Given the description of an element on the screen output the (x, y) to click on. 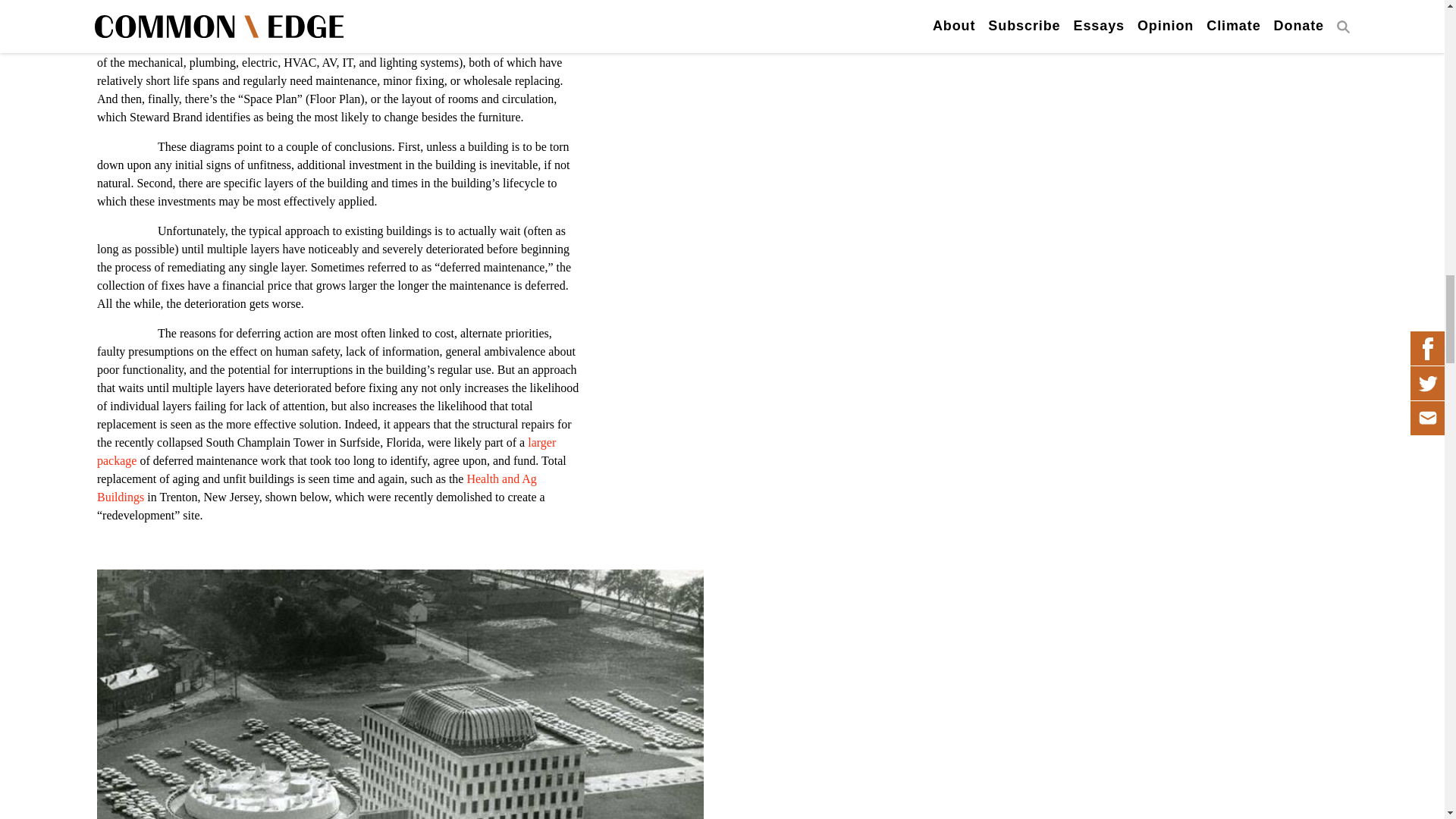
Health and Ag Buildings (317, 487)
larger package (326, 450)
